Given the description of an element on the screen output the (x, y) to click on. 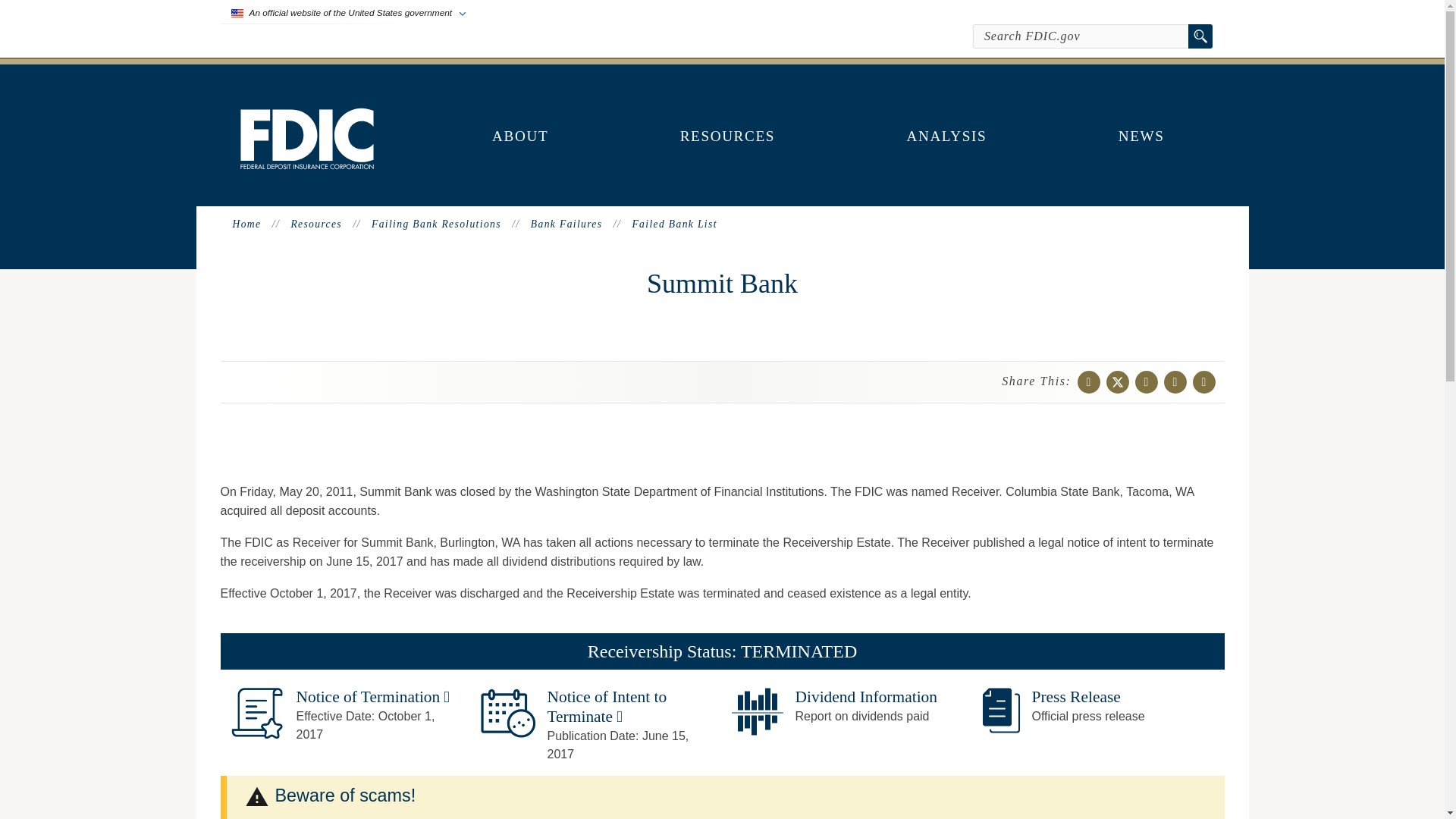
RESOURCES (727, 136)
Home (306, 165)
ABOUT (520, 136)
Search FDIC.gov (1080, 36)
Search FDIC.gov (1080, 36)
